Given the description of an element on the screen output the (x, y) to click on. 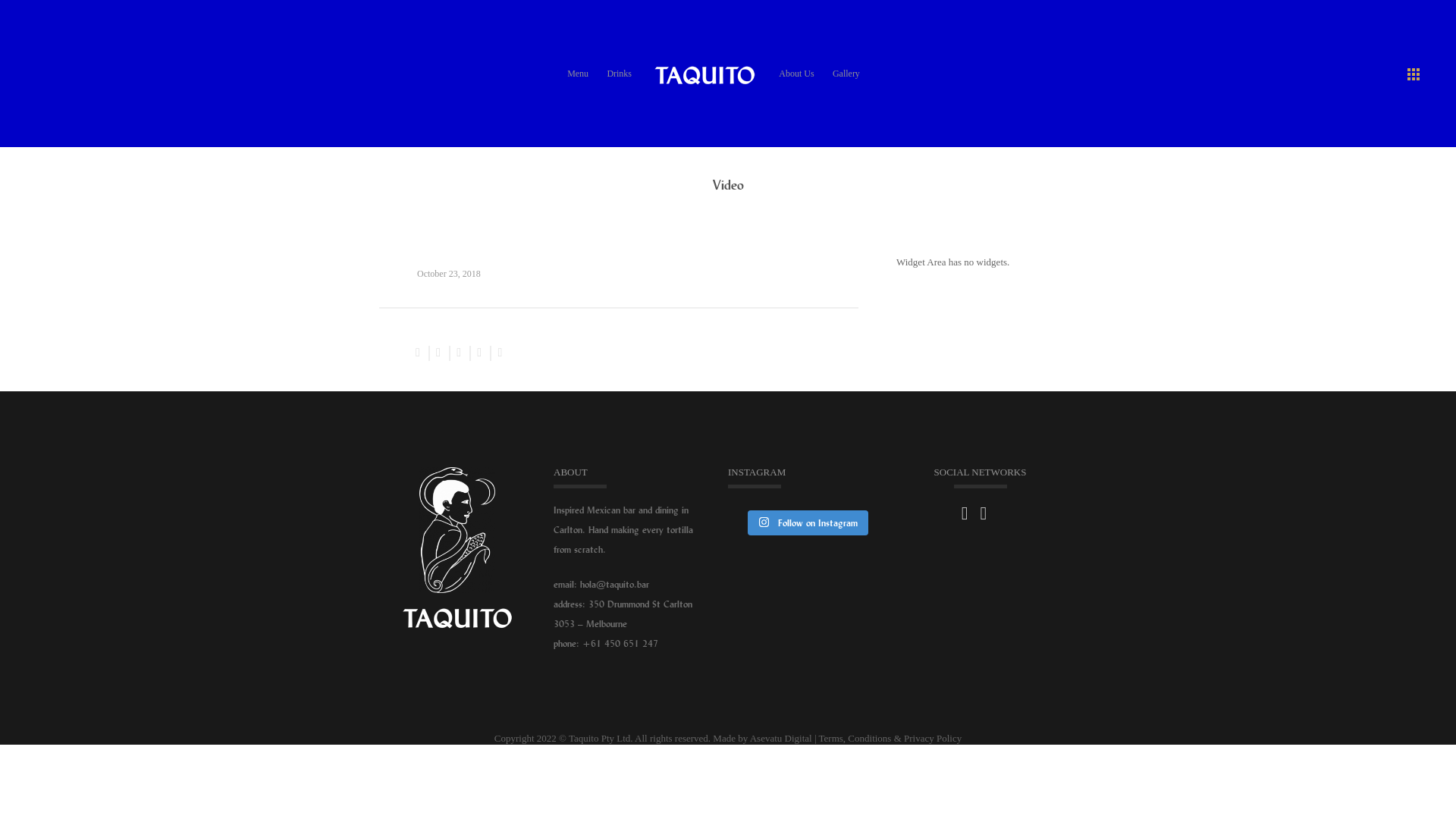
Asevatu Digital Element type: text (780, 737)
Follow on Instagram Element type: text (807, 523)
Follow Us on instagram Element type: hover (982, 512)
About Us Element type: text (796, 73)
Menu Element type: text (577, 73)
October 23, 2018 Element type: text (448, 273)
Drinks Element type: text (619, 73)
Taquito Bar Element type: hover (704, 72)
Gallery Element type: text (846, 73)
Follow Us on facebook Element type: hover (964, 512)
Terms, Conditions & Privacy Policy Element type: text (890, 737)
